Given the description of an element on the screen output the (x, y) to click on. 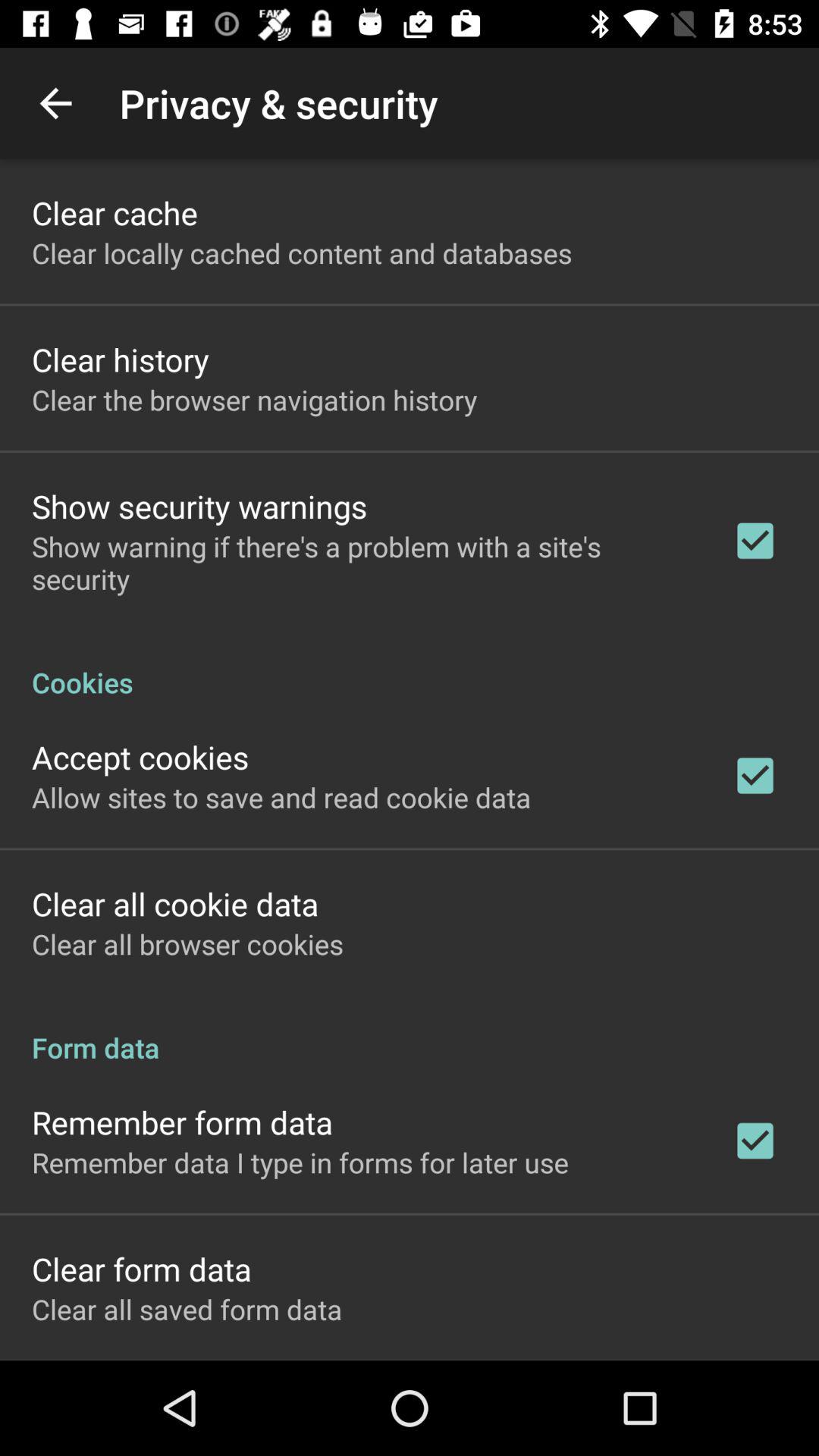
flip until the accept cookies app (140, 756)
